Given the description of an element on the screen output the (x, y) to click on. 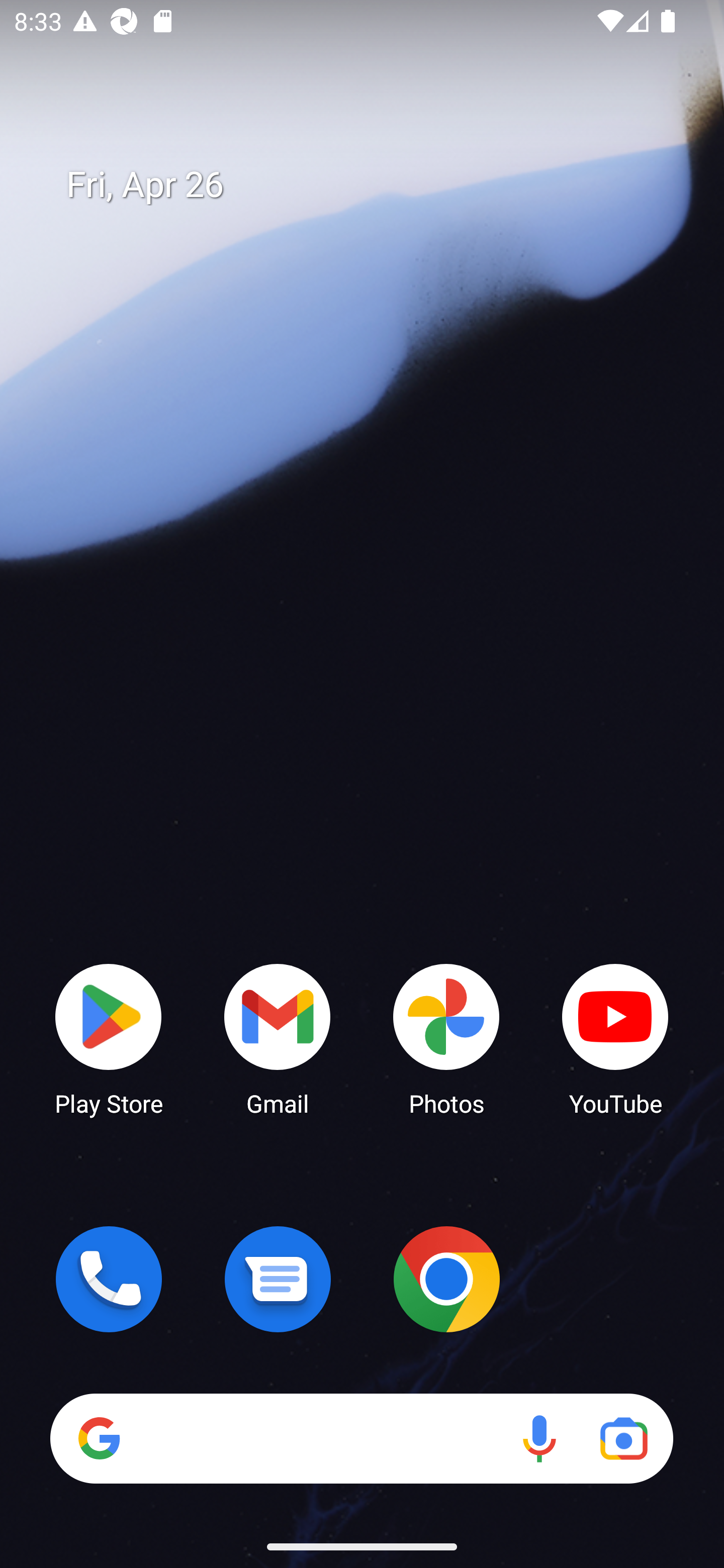
Fri, Apr 26 (375, 184)
Play Store (108, 1038)
Gmail (277, 1038)
Photos (445, 1038)
YouTube (615, 1038)
Phone (108, 1279)
Messages (277, 1279)
Chrome (446, 1279)
Search Voice search Google Lens (361, 1438)
Voice search (539, 1438)
Google Lens (623, 1438)
